Given the description of an element on the screen output the (x, y) to click on. 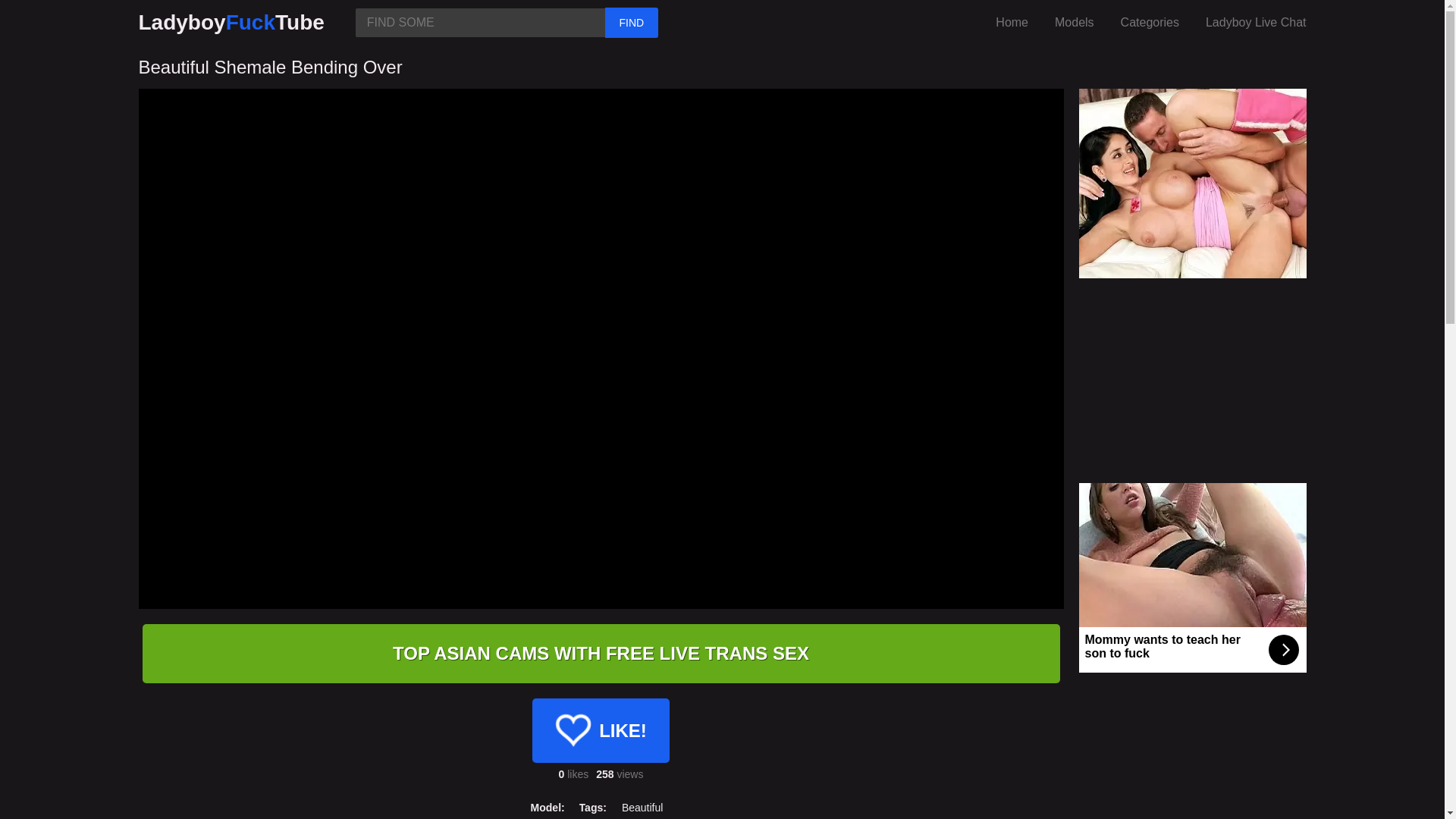
Models (1074, 22)
Home (1011, 22)
Beautiful (641, 807)
Mommy wants to teach her son to fuck (1192, 577)
FIND (631, 22)
Ladyboy Live Chat (1255, 22)
Find (631, 22)
TOP ASIAN CAMS WITH FREE LIVE TRANS SEX (600, 653)
Categories (1150, 22)
Like! (600, 730)
LadyboyFuckTube (230, 22)
LIKE! (600, 730)
